Given the description of an element on the screen output the (x, y) to click on. 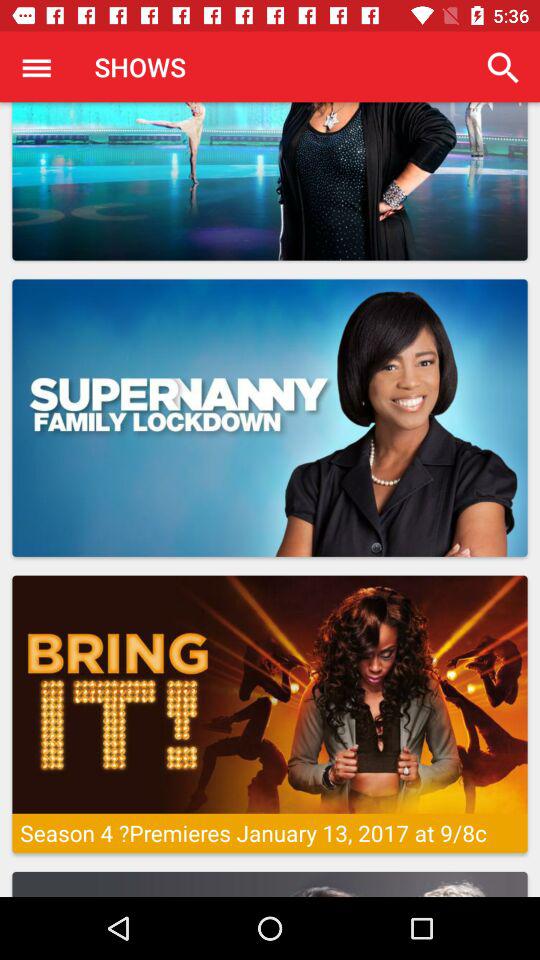
launch item next to shows (503, 67)
